Given the description of an element on the screen output the (x, y) to click on. 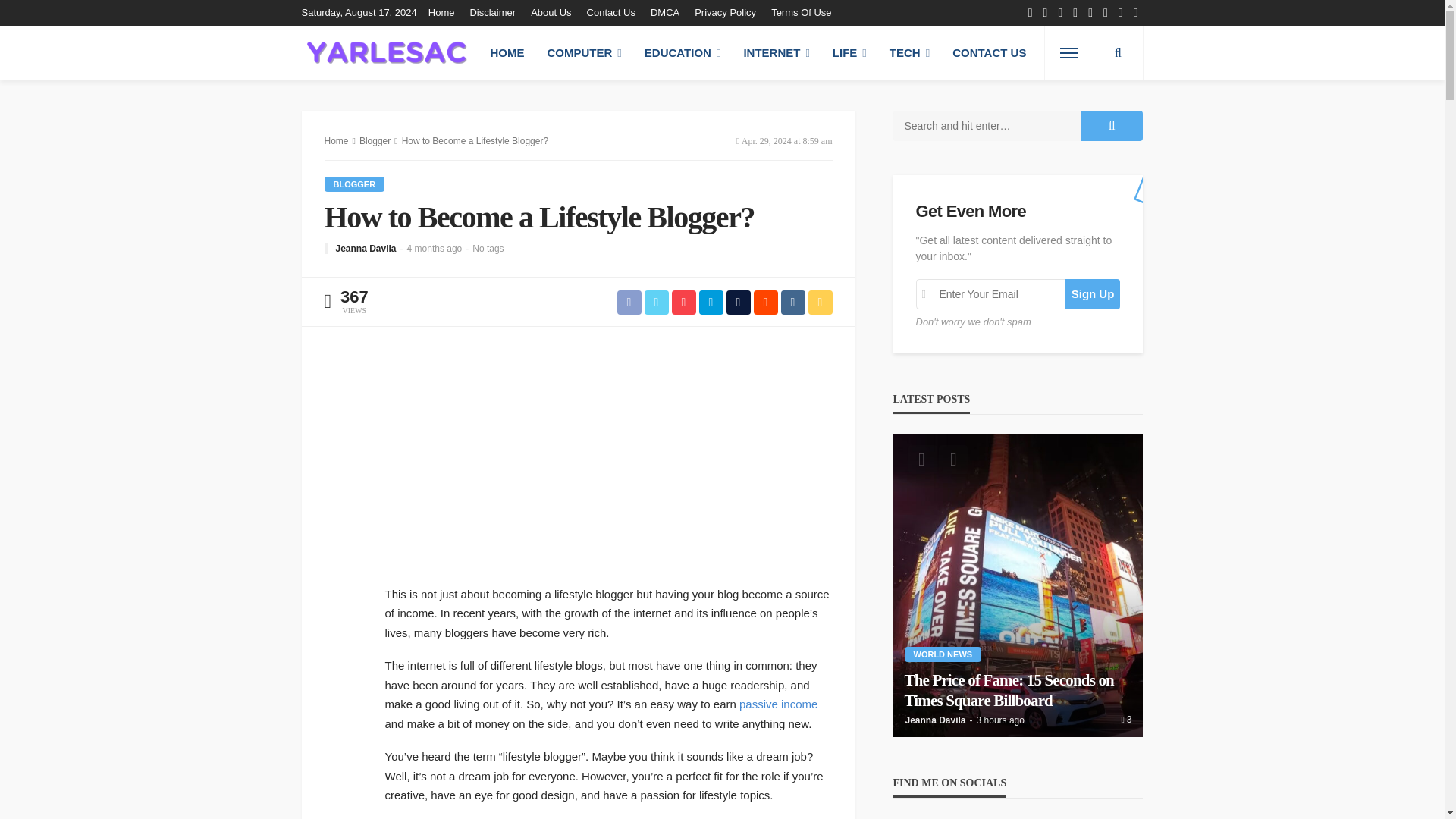
Sign up (1093, 294)
Advertisement (620, 470)
Yarlesac (386, 52)
Blogger (354, 183)
